Given the description of an element on the screen output the (x, y) to click on. 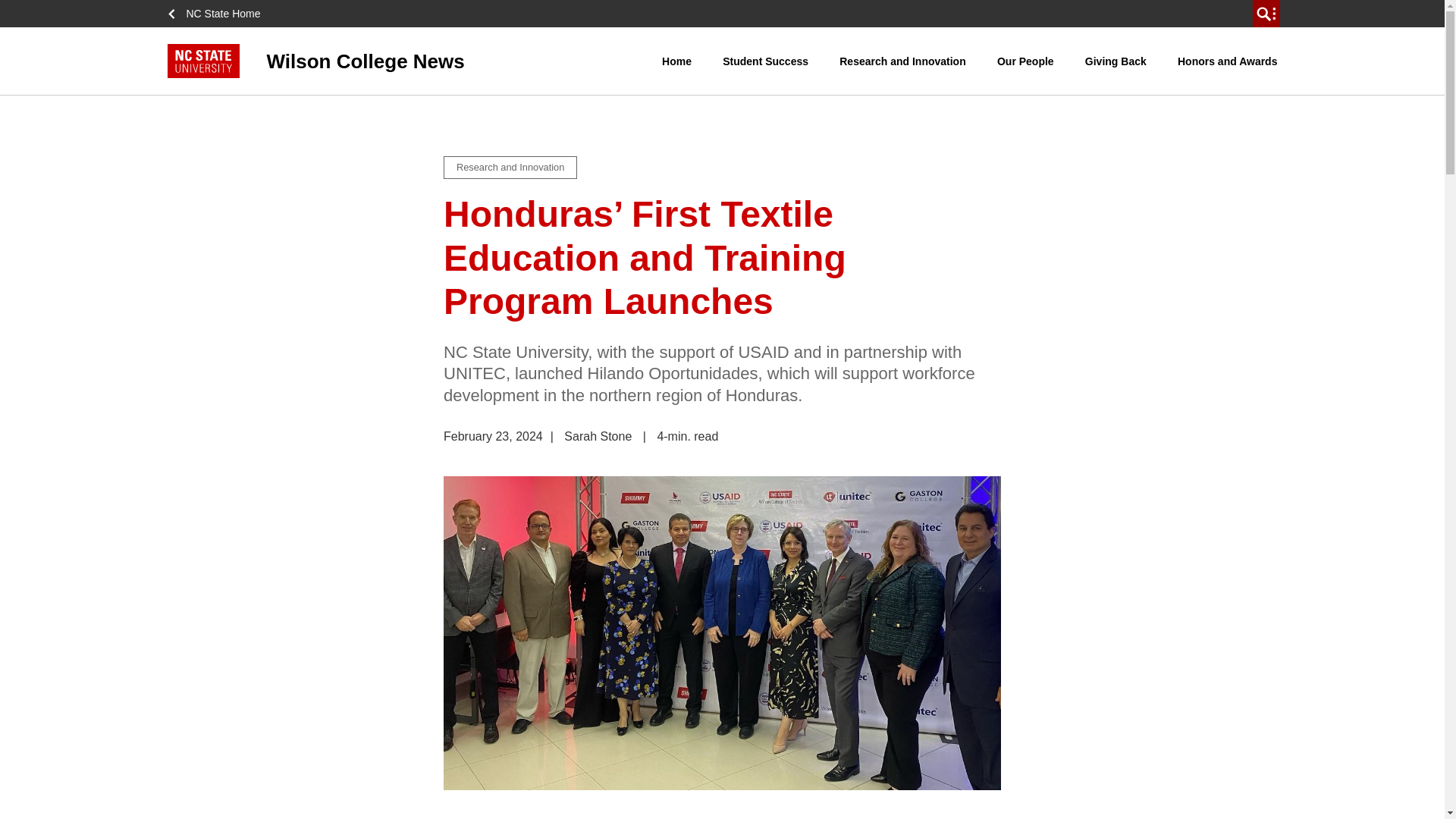
Our People (1025, 61)
Honors and Awards (1227, 61)
Student Success (765, 61)
Research and Innovation (902, 61)
Wilson College News (414, 61)
Home (676, 61)
NC State Home (217, 13)
Giving Back (1115, 61)
